Given the description of an element on the screen output the (x, y) to click on. 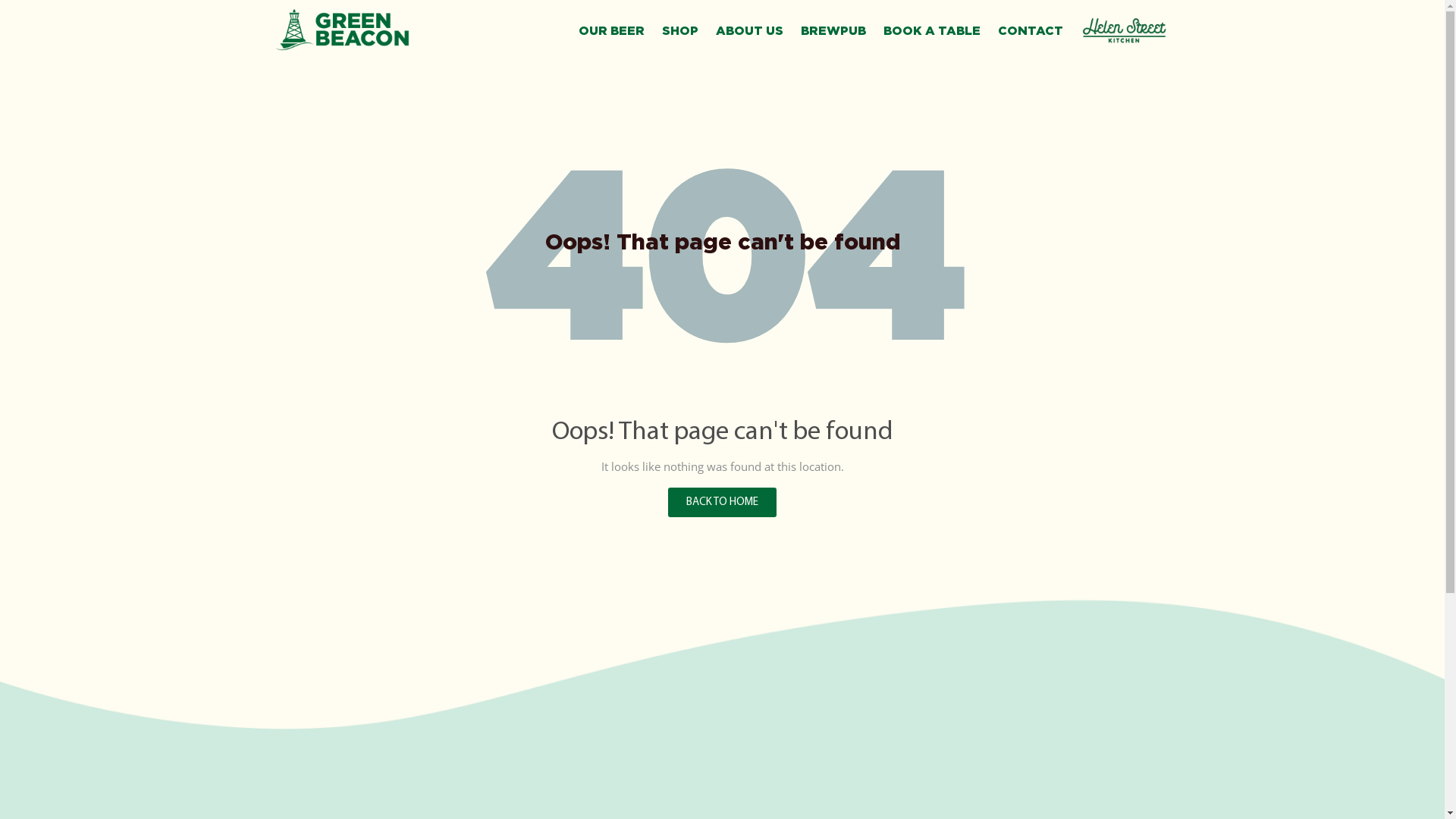
BACK TO HOME Element type: text (722, 502)
BOOK A TABLE Element type: text (931, 29)
BREWPUB Element type: text (833, 29)
ABOUT US Element type: text (749, 29)
SHOP Element type: text (680, 29)
CONTACT Element type: text (1030, 29)
OUR BEER Element type: text (611, 29)
